Given the description of an element on the screen output the (x, y) to click on. 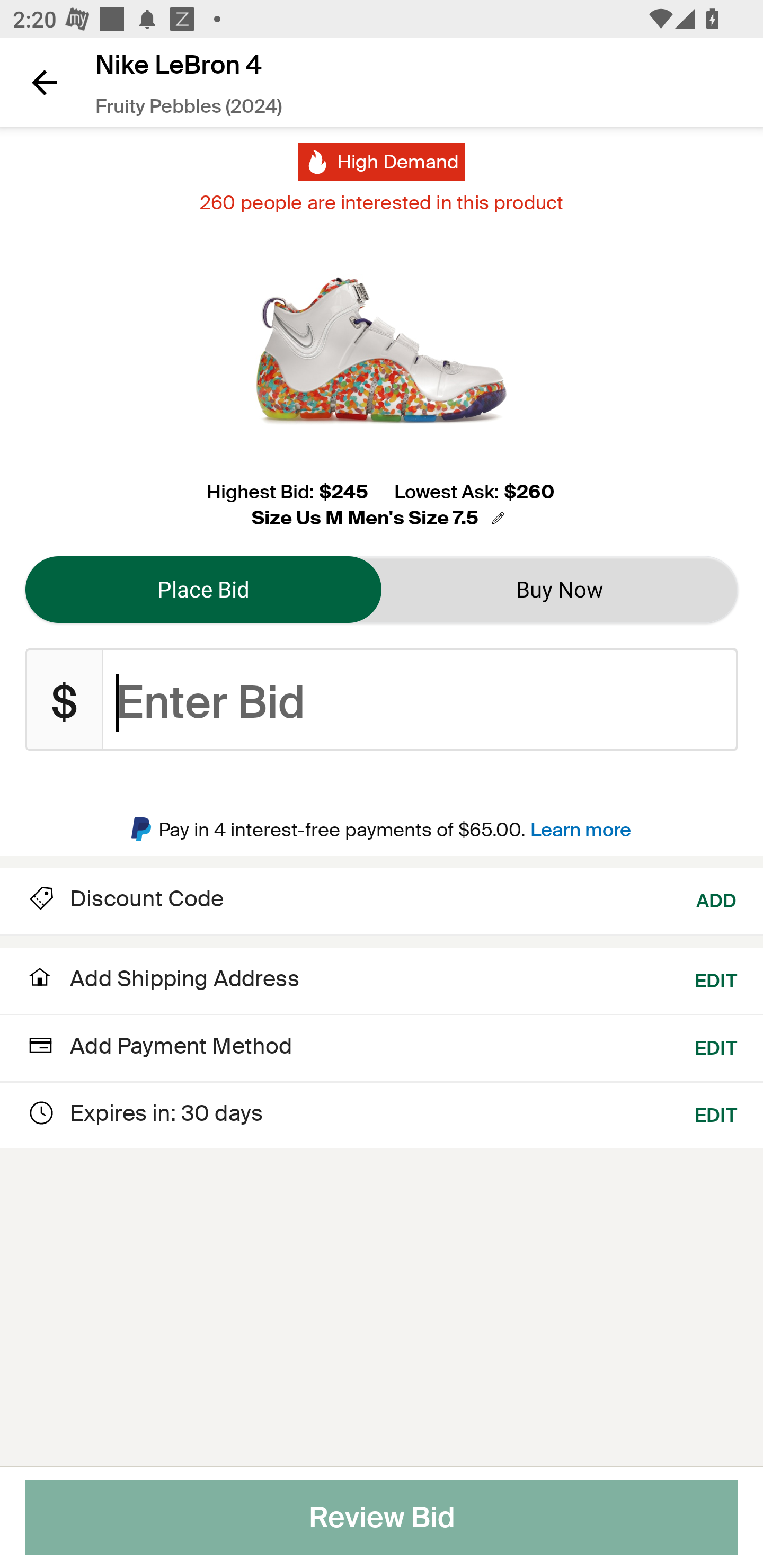
Navigate up (44, 82)
Sneaker Image (381, 350)
Size Us M Men's Size 7.5 An image (380, 517)
Enter Bid (420, 700)
Add Discount Code Discount Code (124, 899)
ADD (717, 899)
Edit Payment Icon Add Shipping Address (162, 983)
EDIT (716, 978)
Edit Payment Icon Add Payment Method (158, 1047)
EDIT (716, 1043)
Edit Payment Icon Expires in: 30 days (144, 1112)
EDIT (716, 1112)
Review Bid (381, 1517)
